Given the description of an element on the screen output the (x, y) to click on. 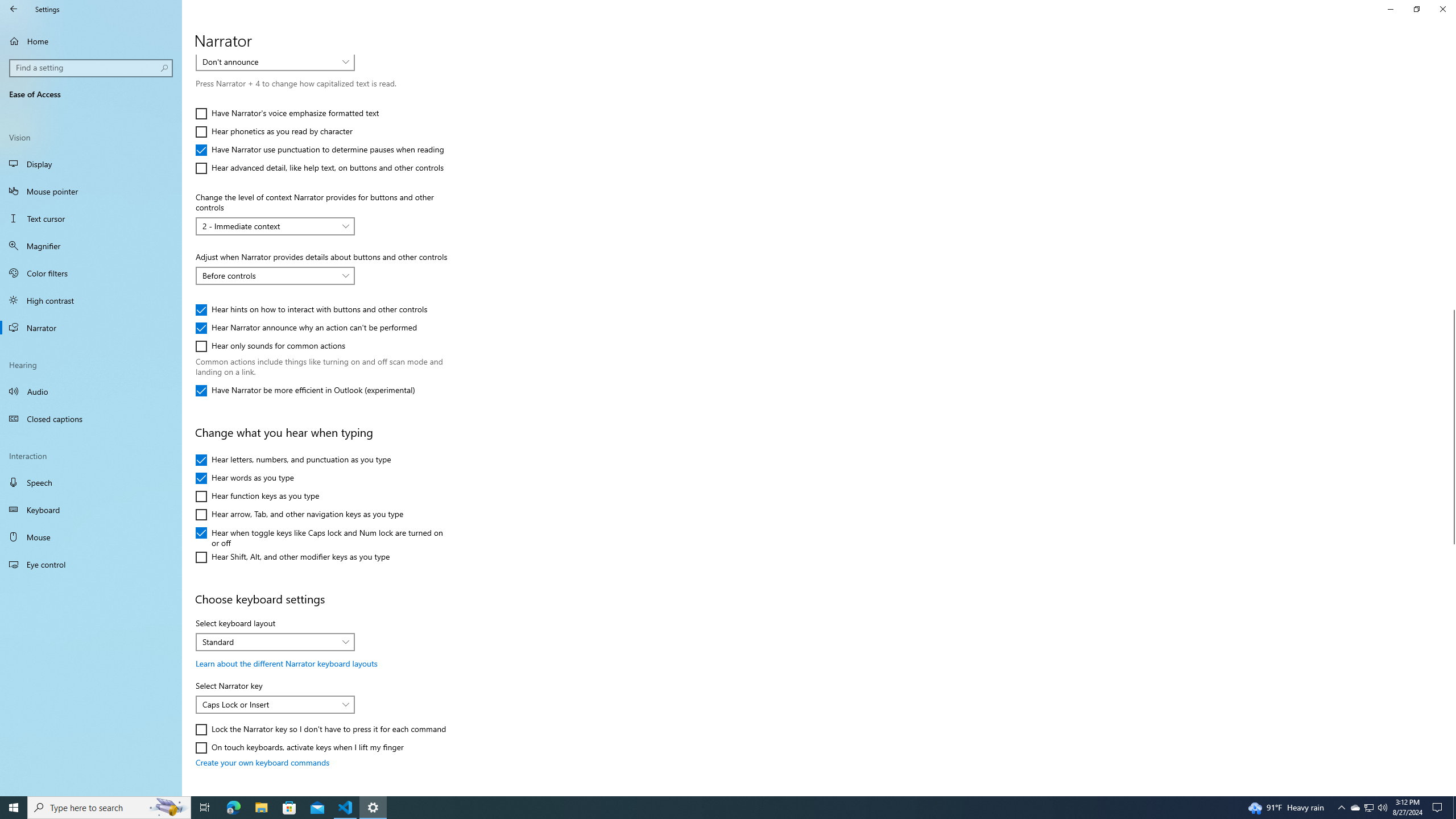
Magnifier (91, 245)
Search box, Find a setting (91, 67)
Vertical Small Increase (1451, 791)
Closed captions (91, 418)
Narrator (91, 327)
Speech (91, 482)
Vertical Small Decrease (1451, 58)
Don't announce (269, 61)
Hear arrow, Tab, and other navigation keys as you type (299, 514)
Text cursor (91, 217)
